Given the description of an element on the screen output the (x, y) to click on. 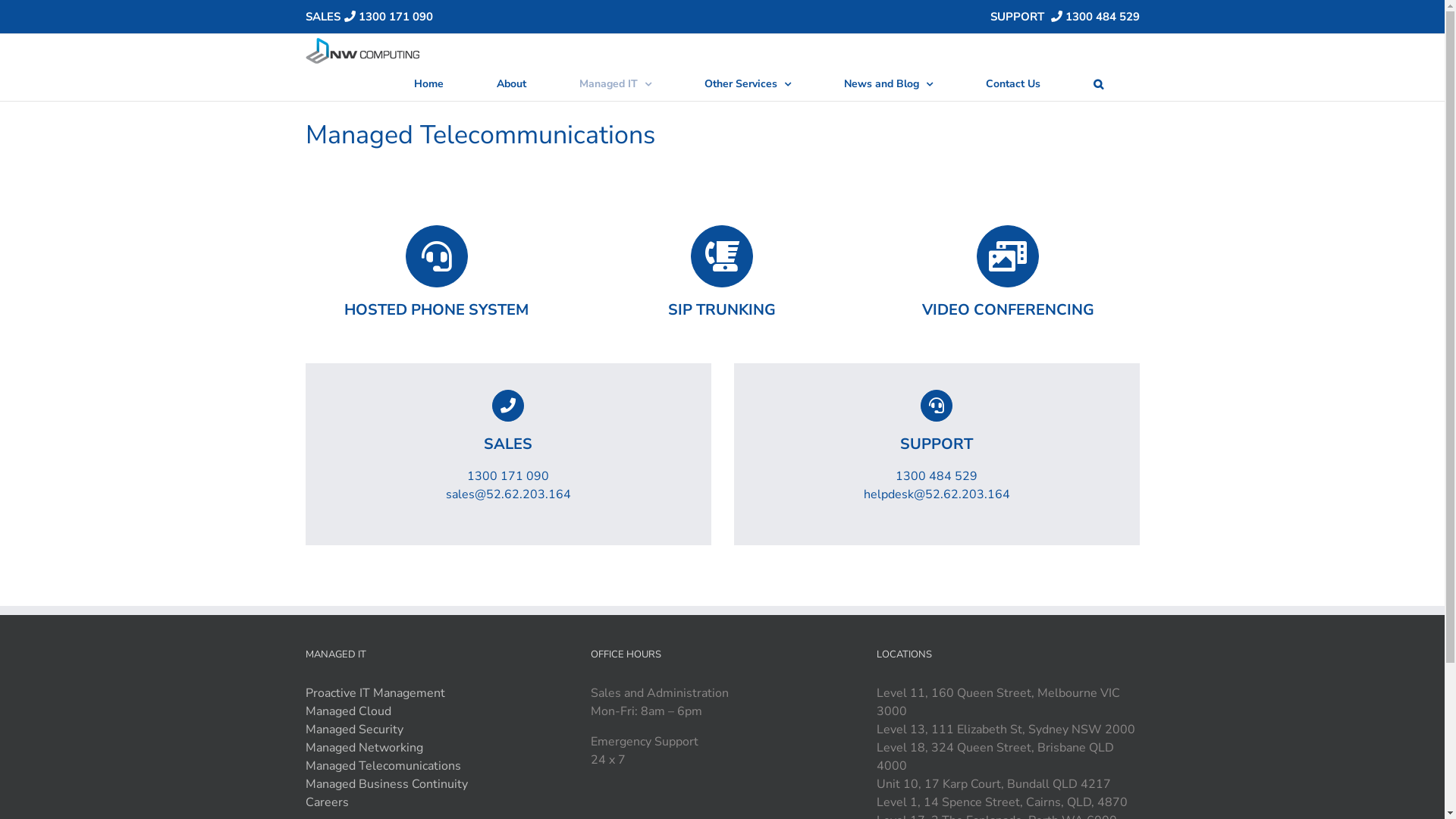
VIDEO CONFERENCING Element type: text (1007, 273)
1300 171 090 Element type: text (508, 475)
Managed Telecomunications Element type: text (382, 764)
SIP TRUNKING Element type: text (721, 273)
Proactive IT Management Element type: text (374, 692)
HOSTED PHONE SYSTEM Element type: text (435, 273)
Home Element type: text (429, 83)
About Element type: text (510, 83)
1300 484 529 Element type: text (1092, 16)
Managed IT Element type: text (615, 83)
Search Element type: hover (1098, 83)
Managed Cloud Element type: text (347, 710)
Careers Element type: text (326, 801)
1300 484 529 Element type: text (936, 475)
Other Services Element type: text (747, 83)
helpdesk@52.62.203.164 Element type: text (935, 494)
Managed Business Continuity Element type: text (385, 783)
SUPPORT Element type: text (935, 422)
Contact Us Element type: text (1013, 83)
sales@52.62.203.164 Element type: text (508, 494)
News and Blog Element type: text (887, 83)
1300 171 090 Element type: text (385, 16)
SALES Element type: text (508, 422)
Managed Security Element type: text (353, 728)
Managed Networking Element type: text (363, 746)
